Given the description of an element on the screen output the (x, y) to click on. 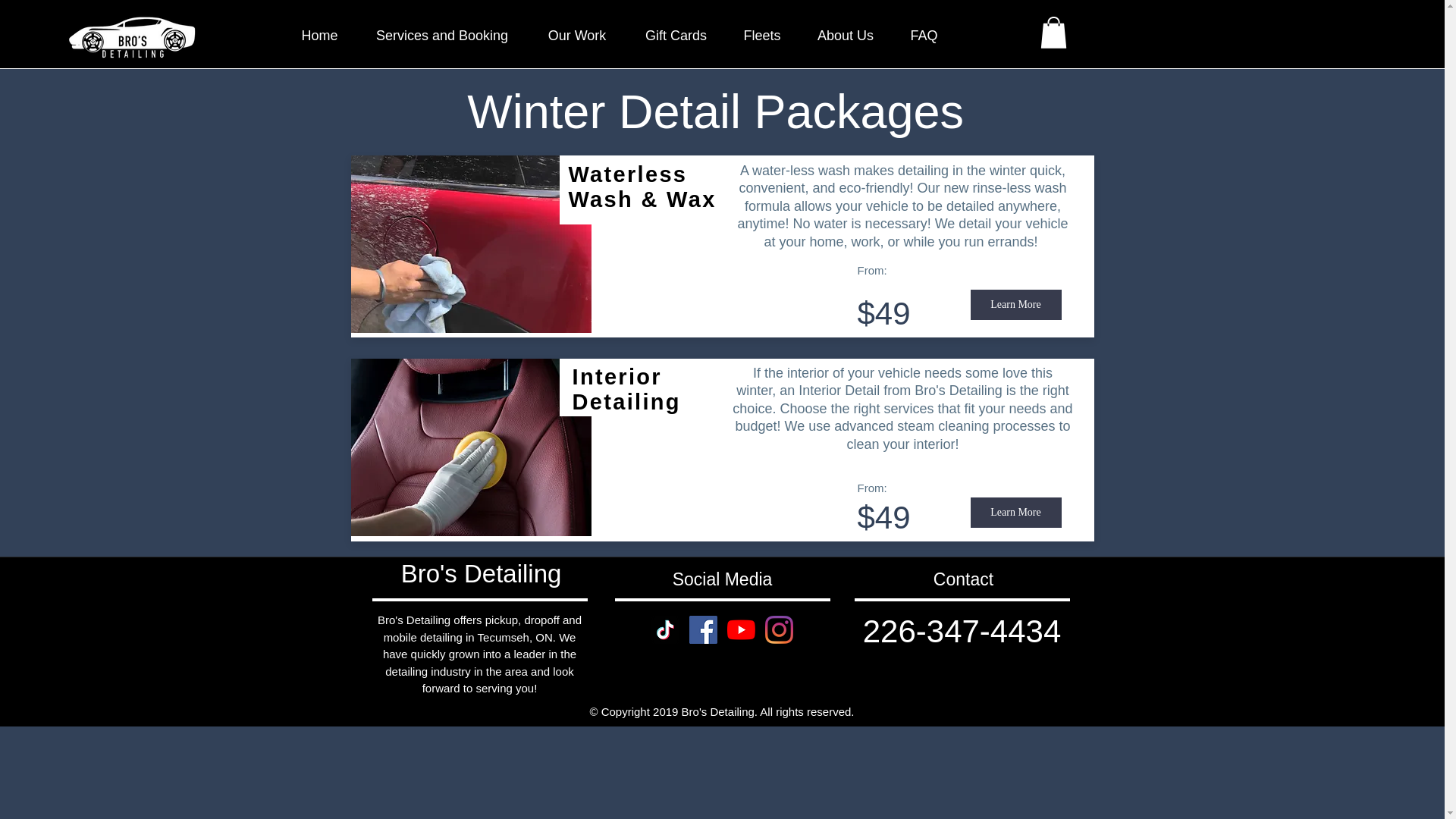
Learn More (1016, 304)
Social Media (722, 578)
FAQ (923, 35)
Bro's Detailing (481, 573)
Fleets (761, 35)
About Us (844, 35)
Our Work (576, 35)
Services and Booking (441, 35)
Learn More (1016, 512)
Gift Cards (675, 35)
